Given the description of an element on the screen output the (x, y) to click on. 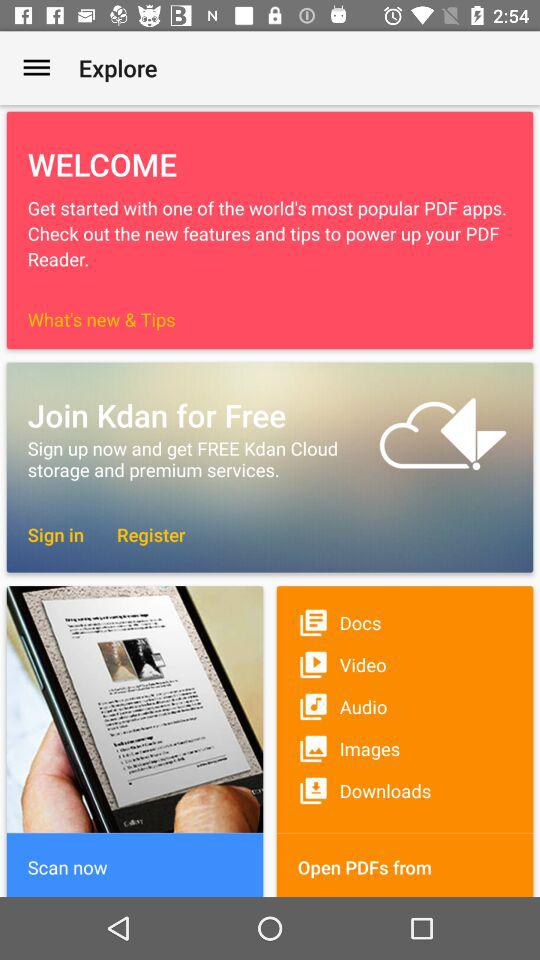
turn off the audio (404, 706)
